Given the description of an element on the screen output the (x, y) to click on. 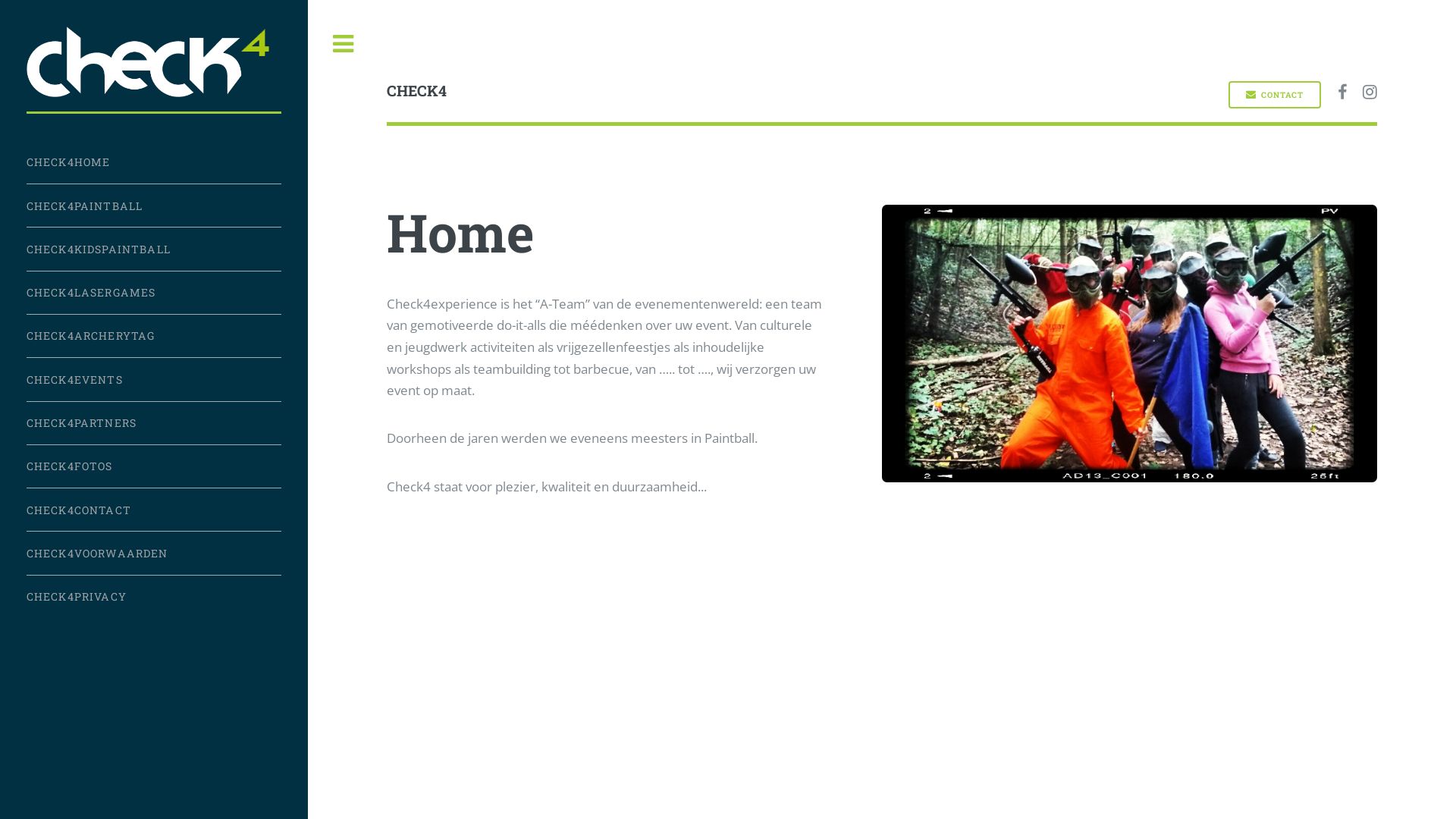
CHECK4HOME Element type: text (153, 162)
CHECK4PRIVACY Element type: text (153, 595)
CHECK4FOTOS Element type: text (153, 466)
CHECK4LASERGAMES Element type: text (153, 291)
CHECK4PAINTBALL Element type: text (153, 205)
CONTACT Element type: text (1274, 94)
CHECK4VOORWAARDEN Element type: text (153, 552)
CHECK4KIDSPAINTBALL Element type: text (153, 248)
CHECK4 Element type: text (633, 93)
CHECK4EVENTS Element type: text (153, 379)
CHECK4ARCHERYTAG Element type: text (153, 335)
Toggle Element type: text (343, 44)
CHECK4PARTNERS Element type: text (153, 422)
CHECK4CONTACT Element type: text (153, 509)
